Given the description of an element on the screen output the (x, y) to click on. 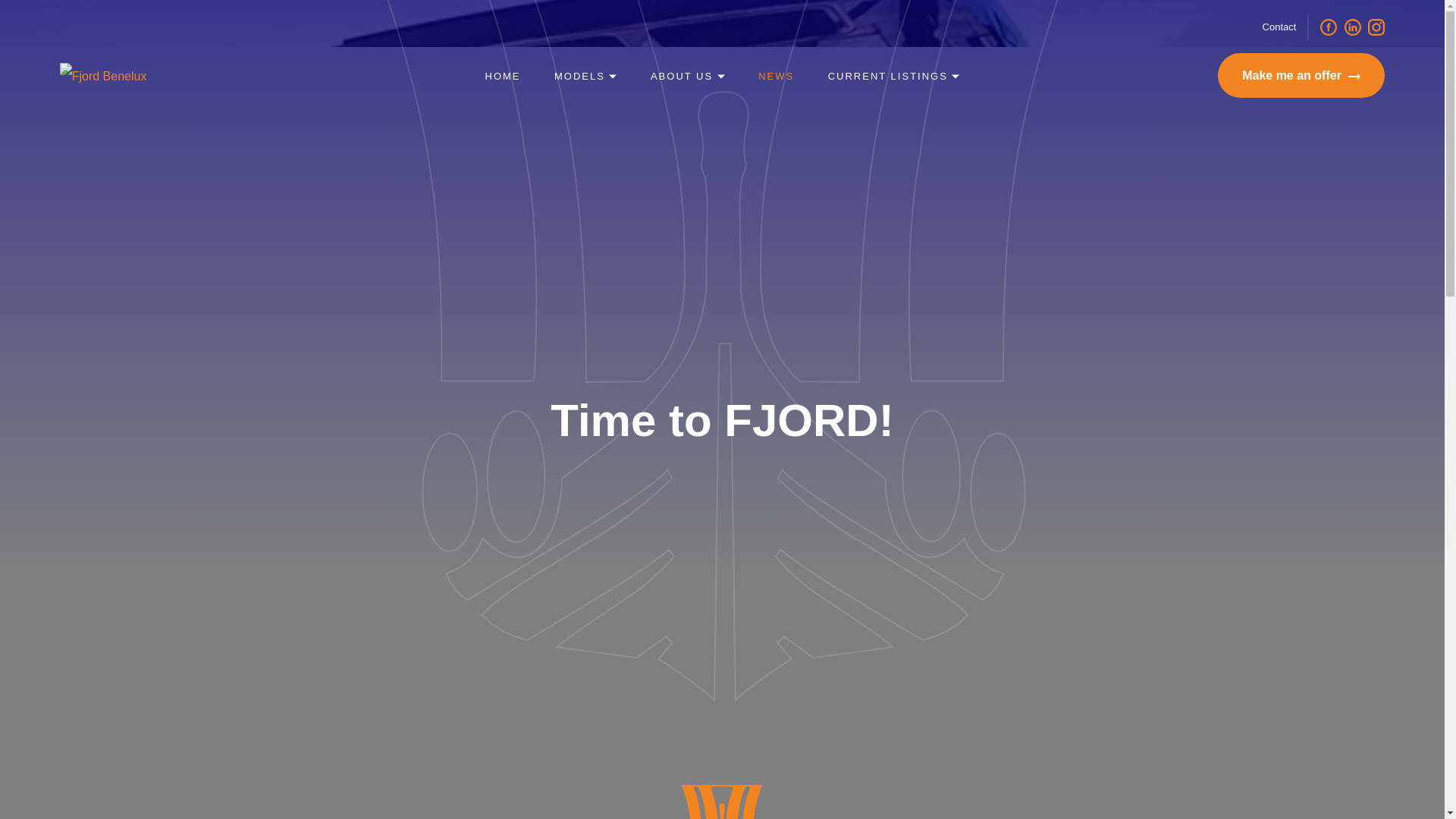
LinkedIn (1352, 25)
NEWS (775, 75)
Contact (1279, 26)
Contact (1279, 26)
Make me an offer (1300, 75)
CURRENT LISTINGS (893, 75)
Facebook (1328, 25)
MODELS (585, 75)
ABOUT US (687, 75)
HOME (502, 75)
